Given the description of an element on the screen output the (x, y) to click on. 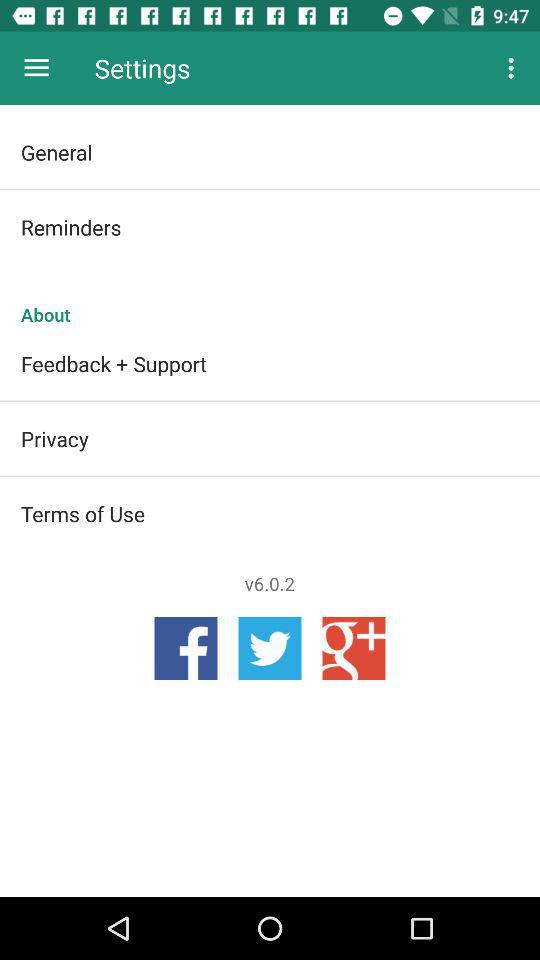
choose the privacy item (270, 438)
